Given the description of an element on the screen output the (x, y) to click on. 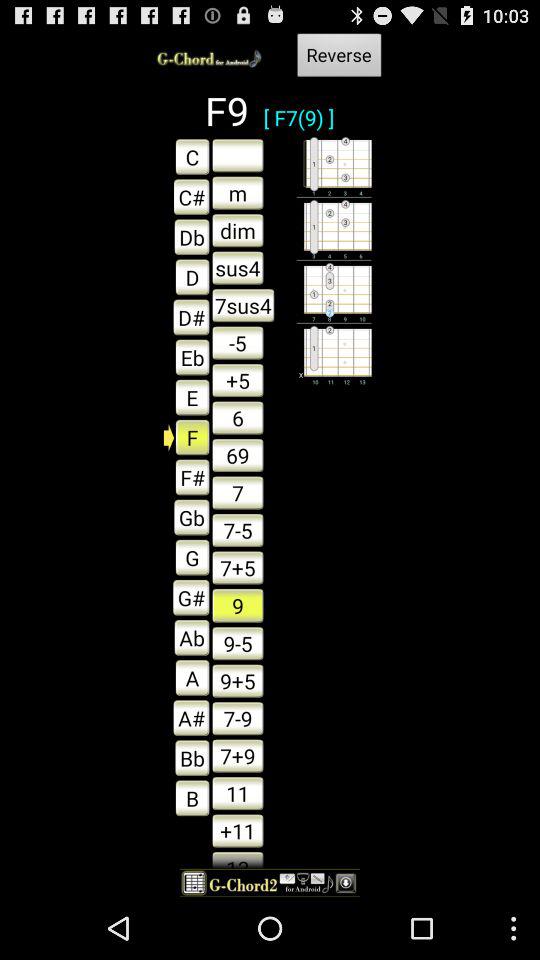
select the 7sus4 (243, 305)
